Given the description of an element on the screen output the (x, y) to click on. 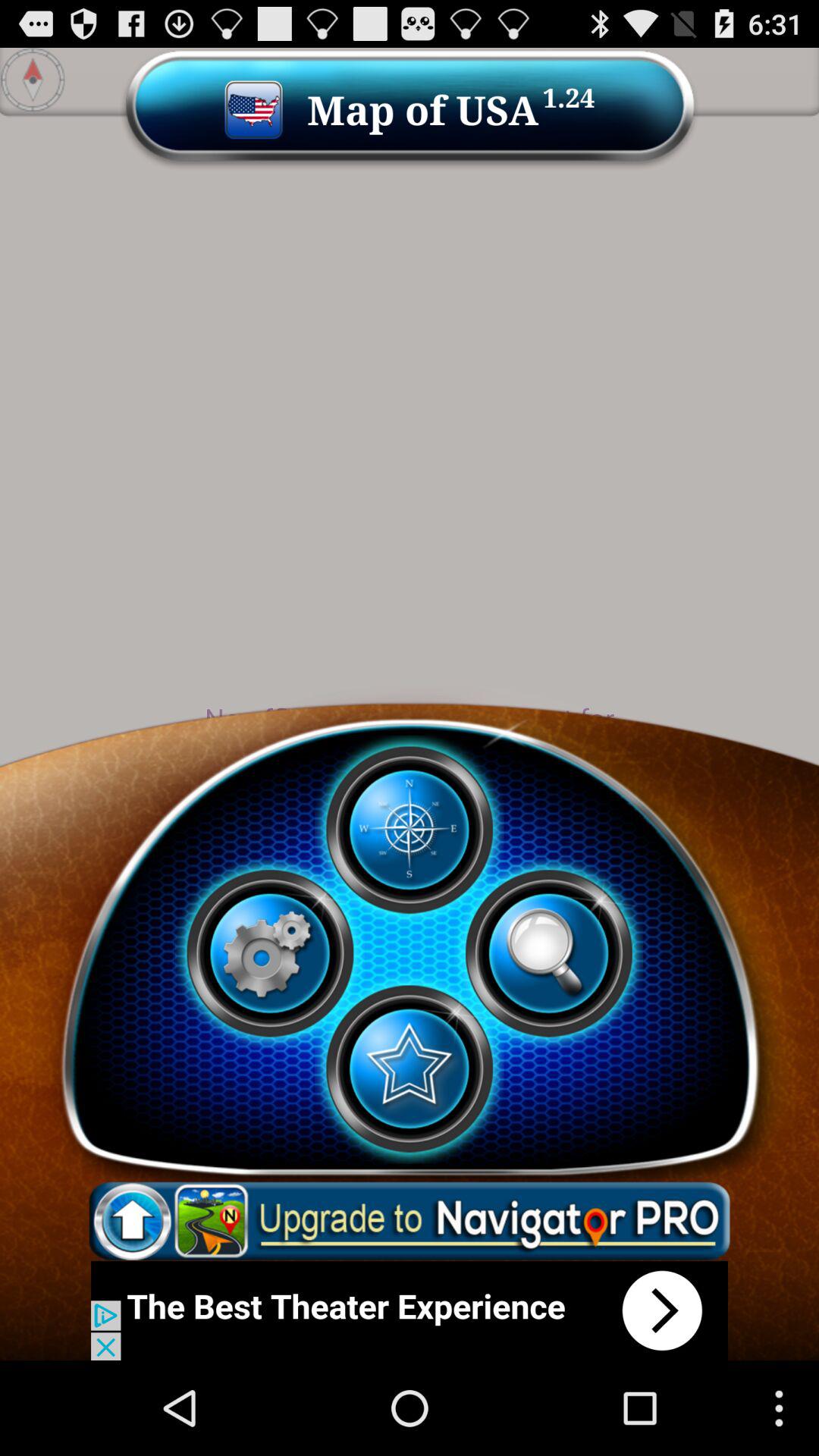
connect to advertisement (409, 1310)
